Given the description of an element on the screen output the (x, y) to click on. 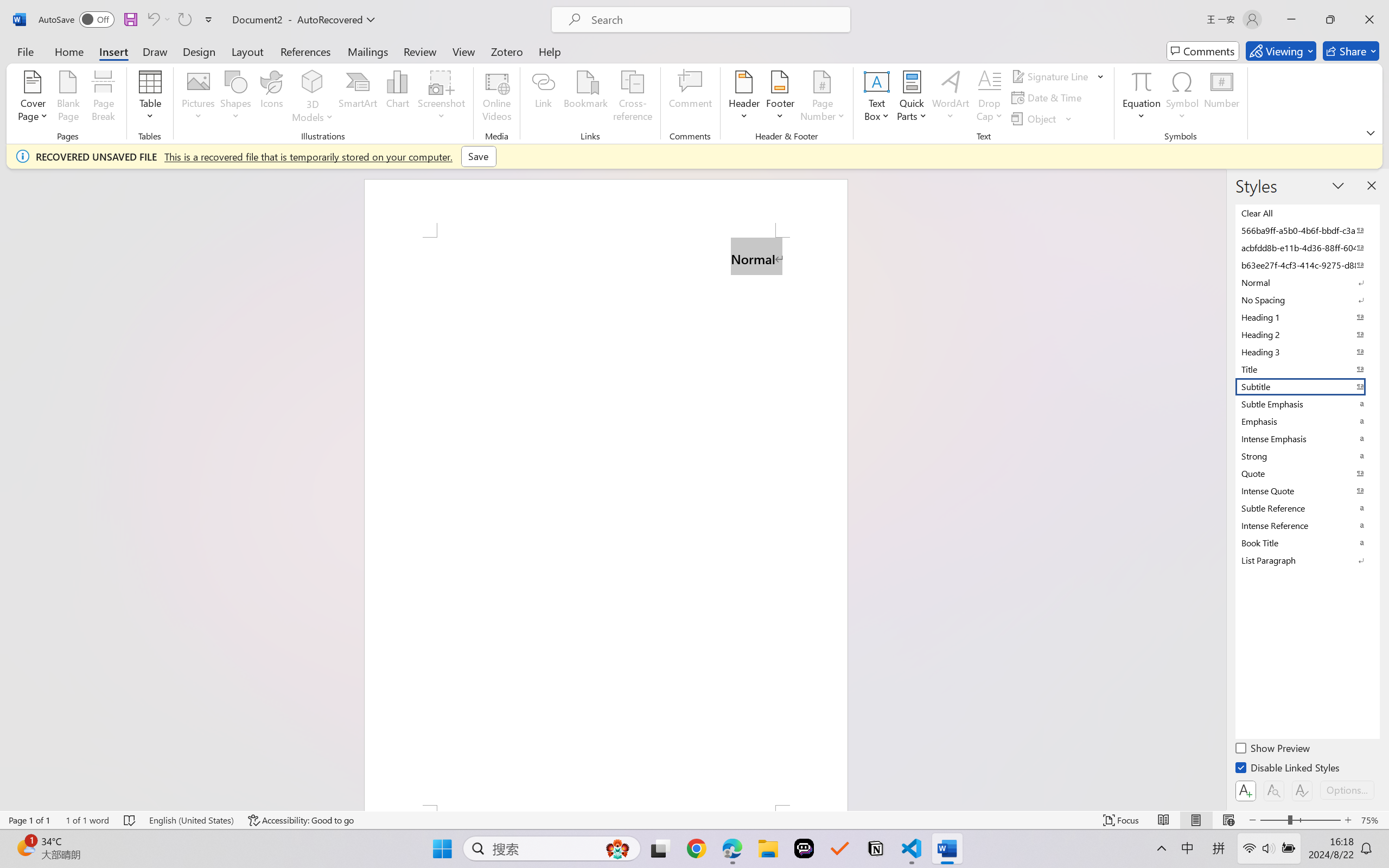
Bookmark... (585, 97)
Symbol (1181, 97)
Subtle Reference (1306, 508)
Heading 1 (1306, 317)
Book Title (1306, 543)
